Given the description of an element on the screen output the (x, y) to click on. 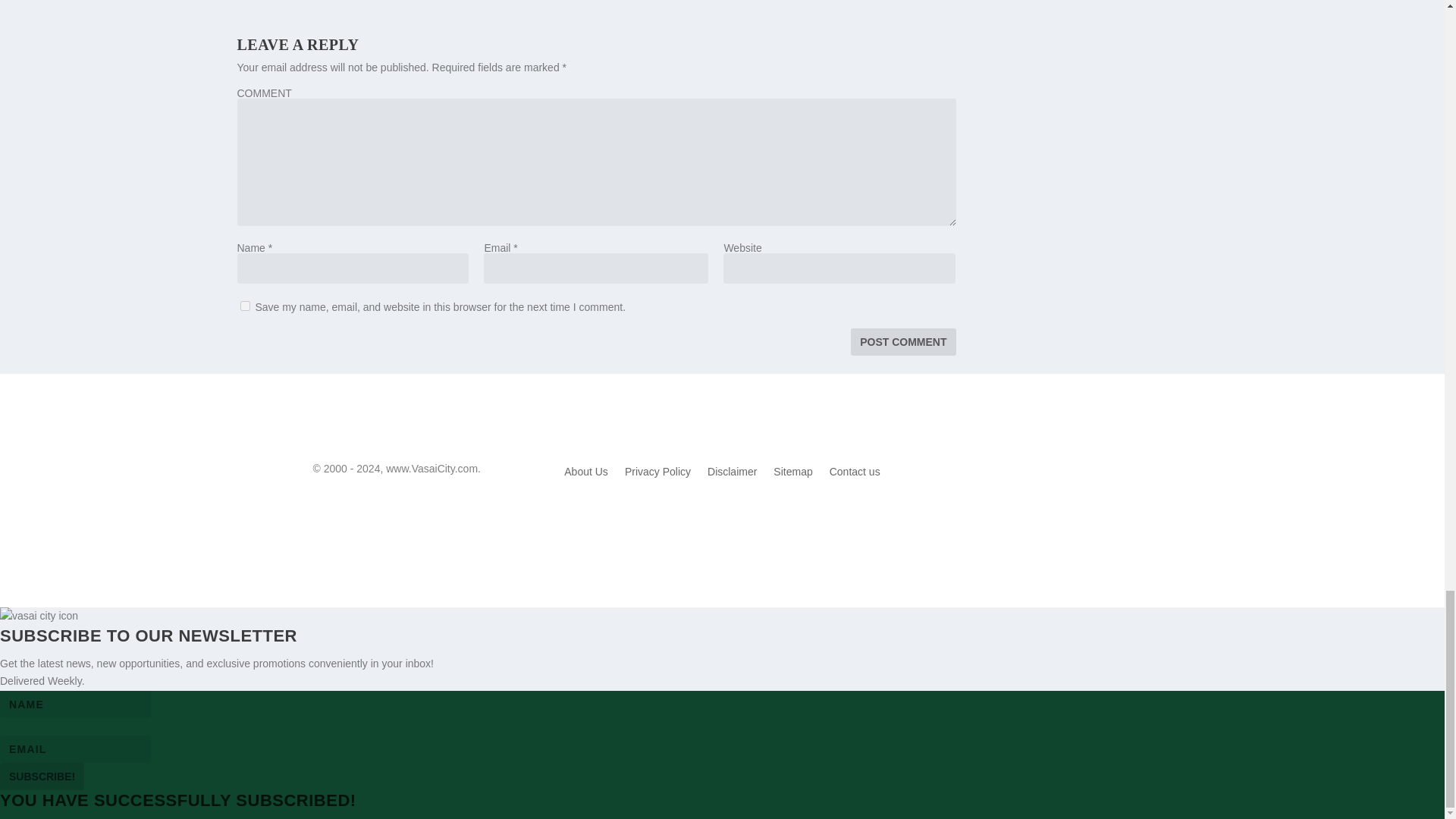
Post Comment (902, 341)
yes (244, 306)
